Given the description of an element on the screen output the (x, y) to click on. 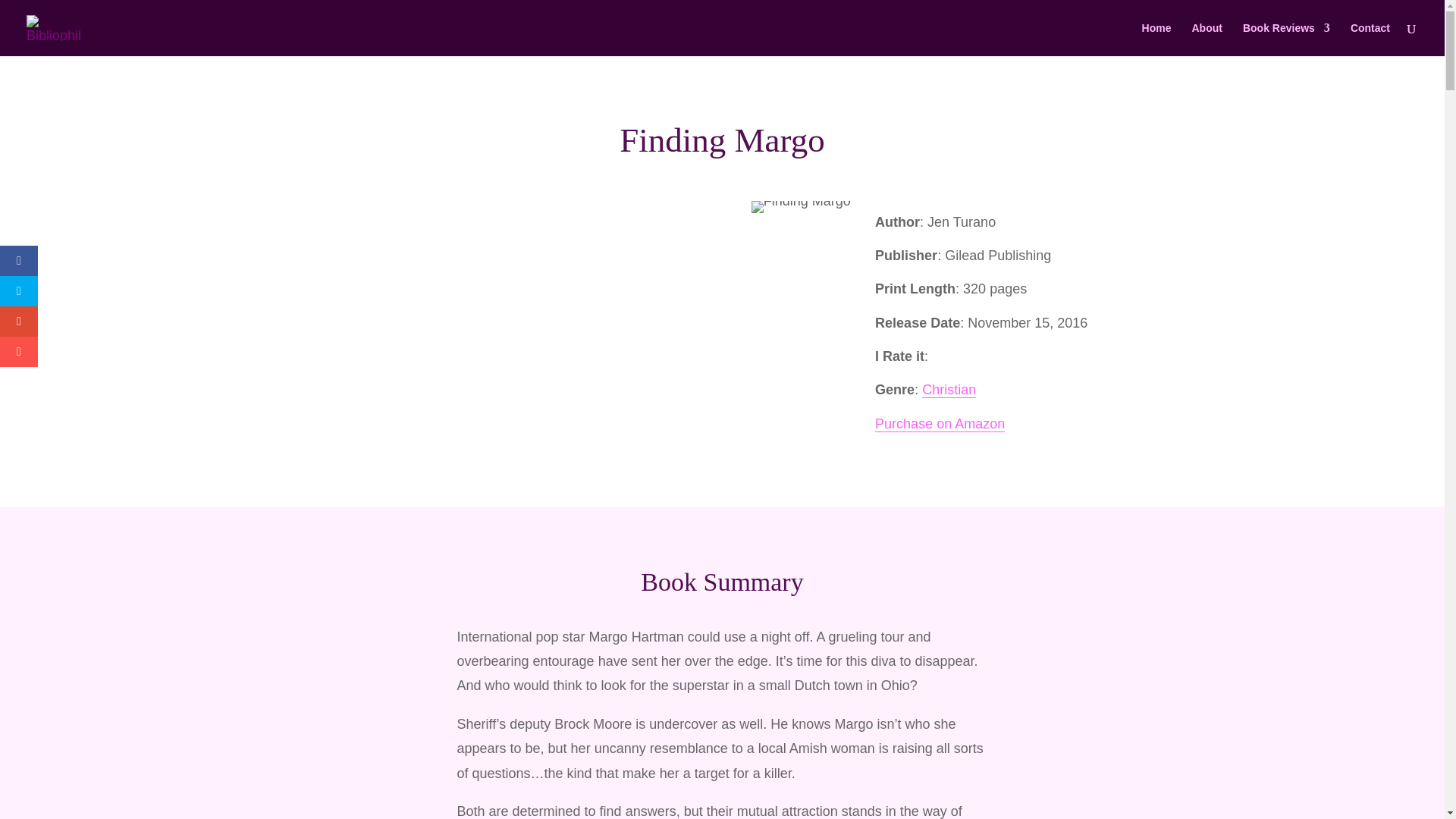
Book Reviews (1286, 39)
Christian (948, 390)
Purchase on Amazon (939, 424)
About (1206, 39)
Contact (1370, 39)
